Given the description of an element on the screen output the (x, y) to click on. 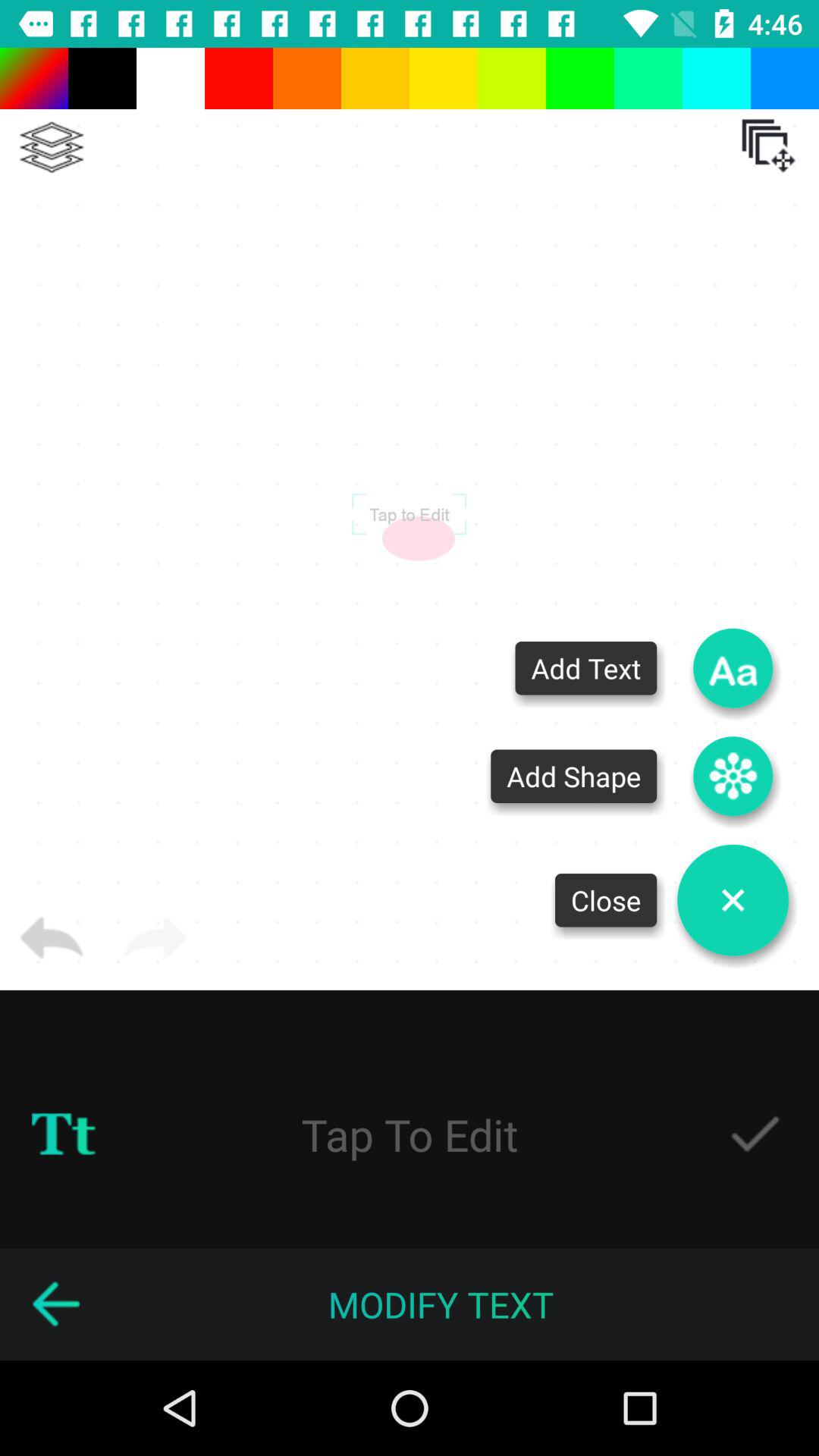
redo what was undone (155, 938)
